Given the description of an element on the screen output the (x, y) to click on. 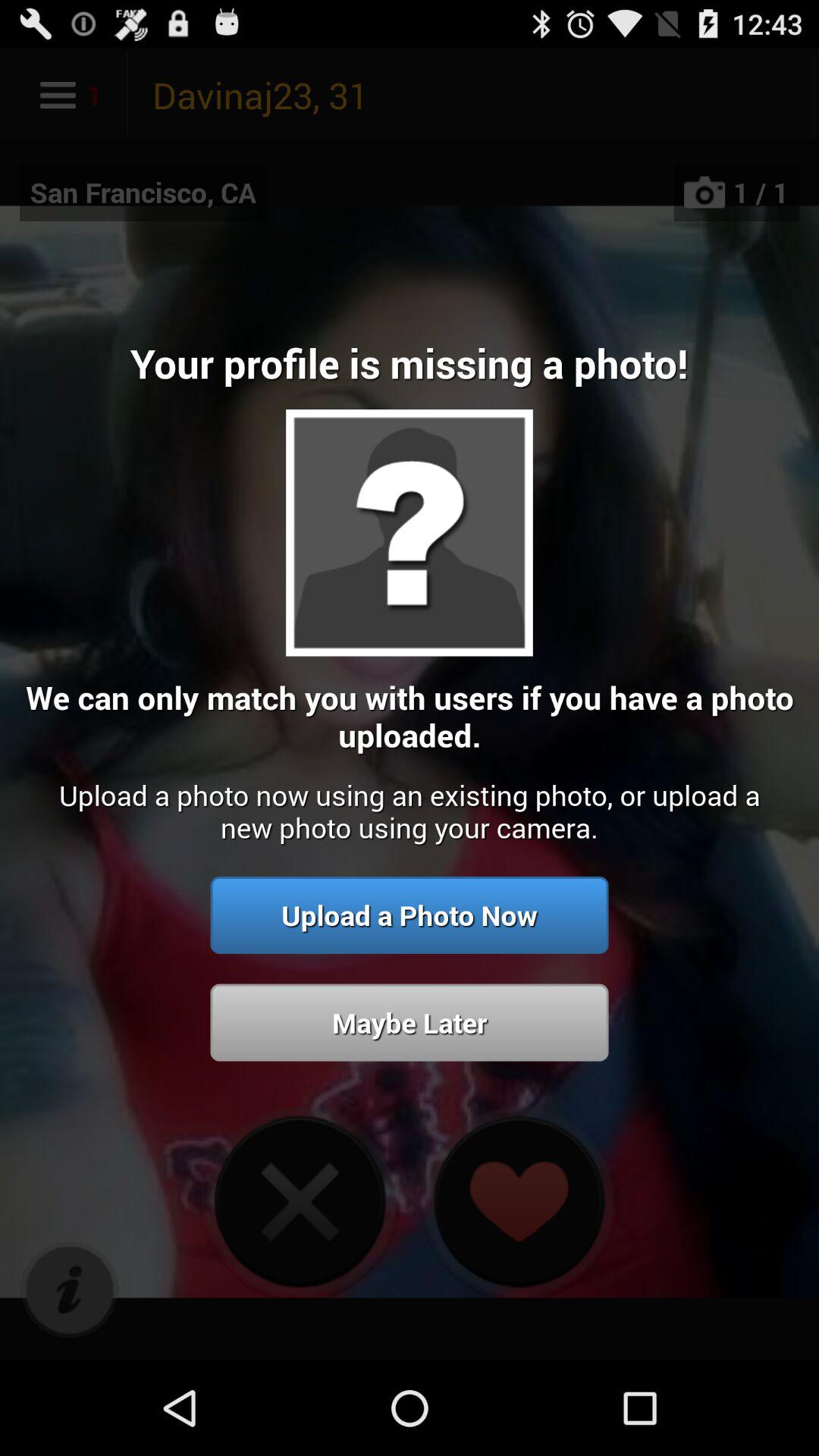
flip until the maybe later button (409, 1022)
